Given the description of an element on the screen output the (x, y) to click on. 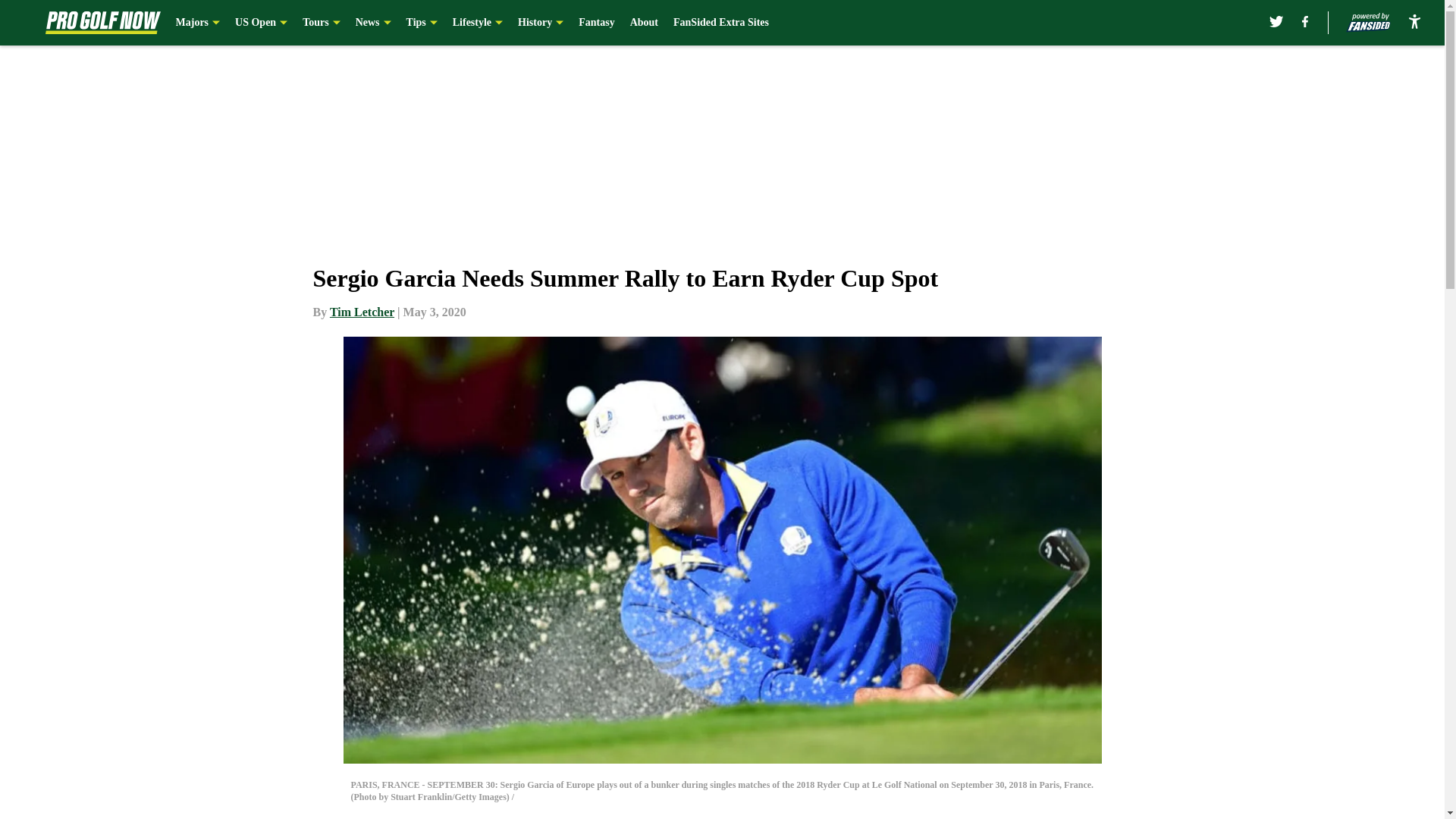
About (644, 22)
Tim Letcher (362, 311)
FanSided Extra Sites (720, 22)
Fantasy (596, 22)
